Given the description of an element on the screen output the (x, y) to click on. 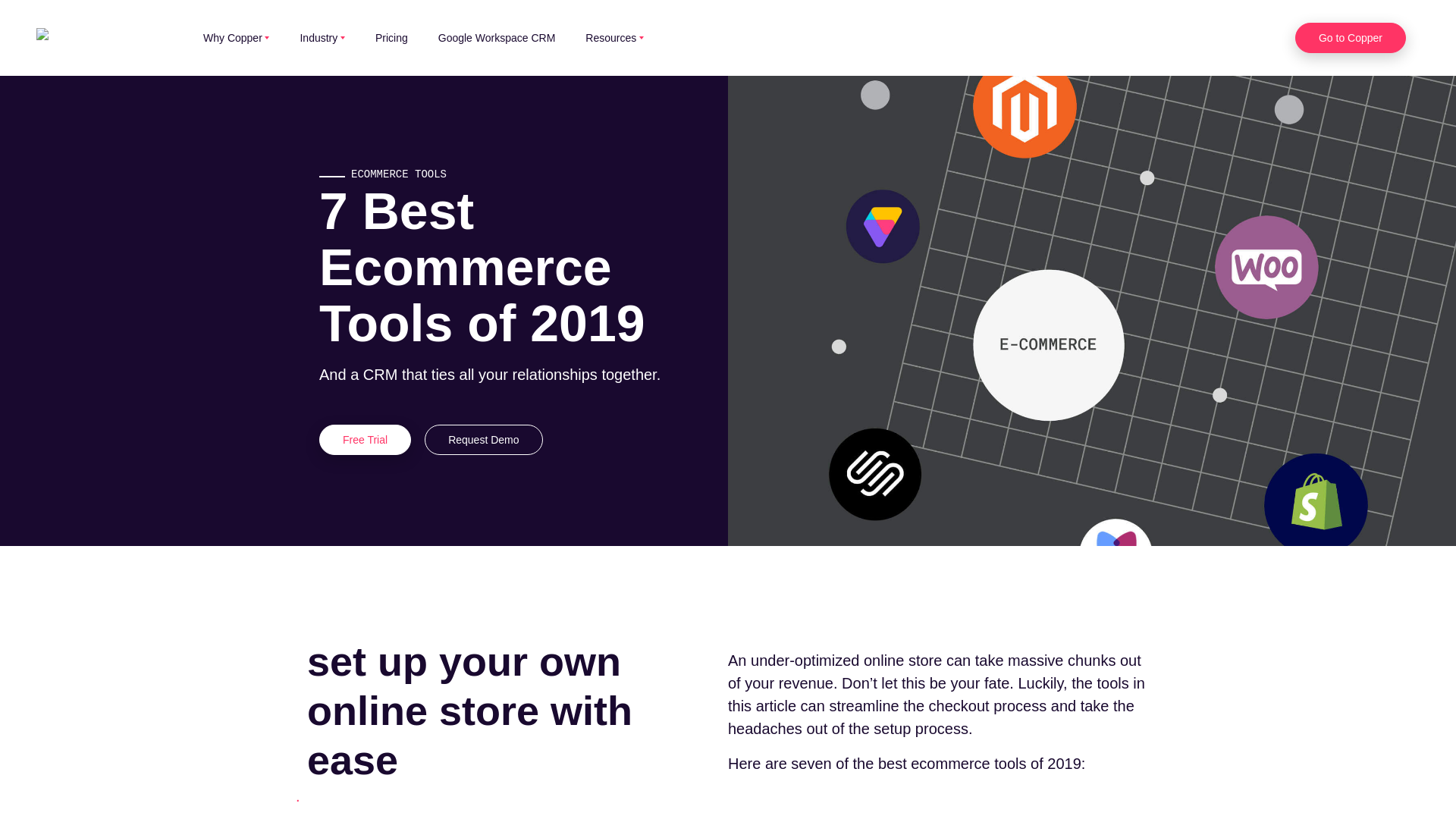
Go to Copper (1350, 37)
Pricing (406, 37)
Google Workspace CRM (512, 37)
